Given the description of an element on the screen output the (x, y) to click on. 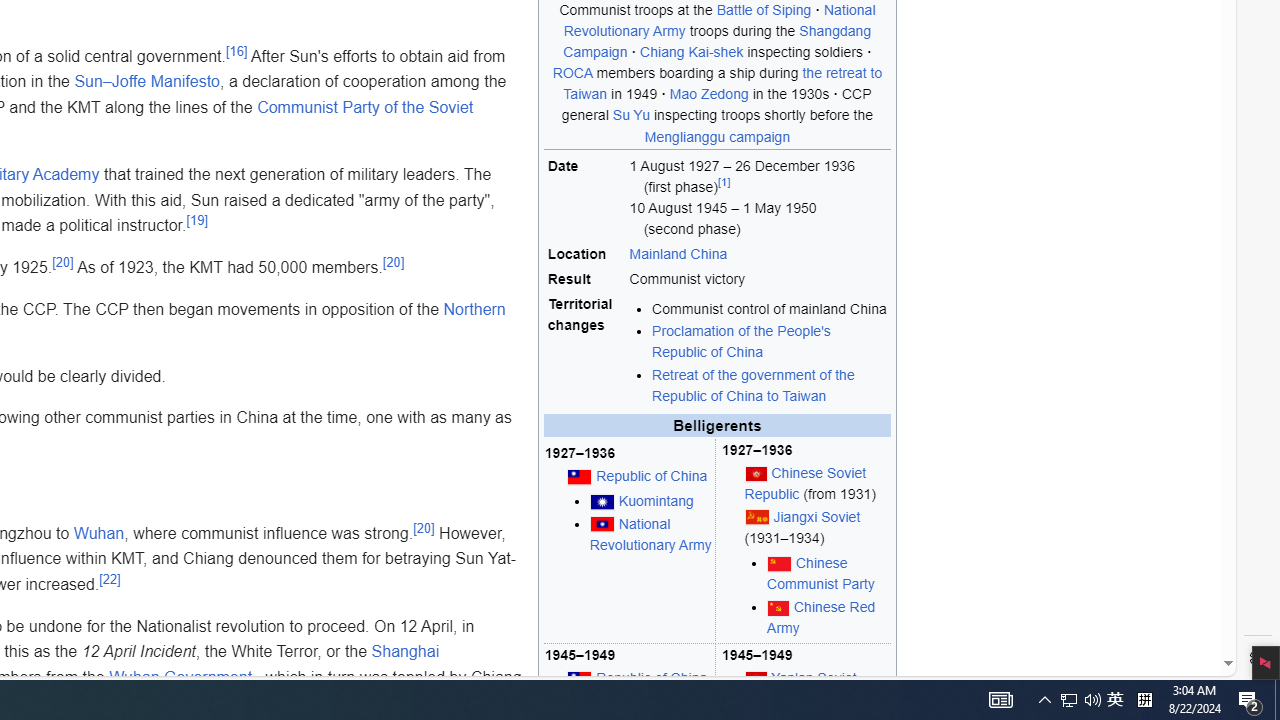
Chinese Communist Party (820, 574)
Territorial changes (586, 351)
Menglianggu campaign (717, 136)
Chinese Red Army (820, 616)
Location (586, 255)
Mainland China (758, 255)
Communist victory (758, 279)
[22] (109, 578)
Chinese Soviet Republic (804, 483)
Chiang Kai-shek (691, 52)
Result (586, 279)
Jiangxi Soviet (817, 516)
Kuomintang (655, 501)
Su Yu (631, 115)
Proclamation of the People's Republic of China (740, 341)
